Given the description of an element on the screen output the (x, y) to click on. 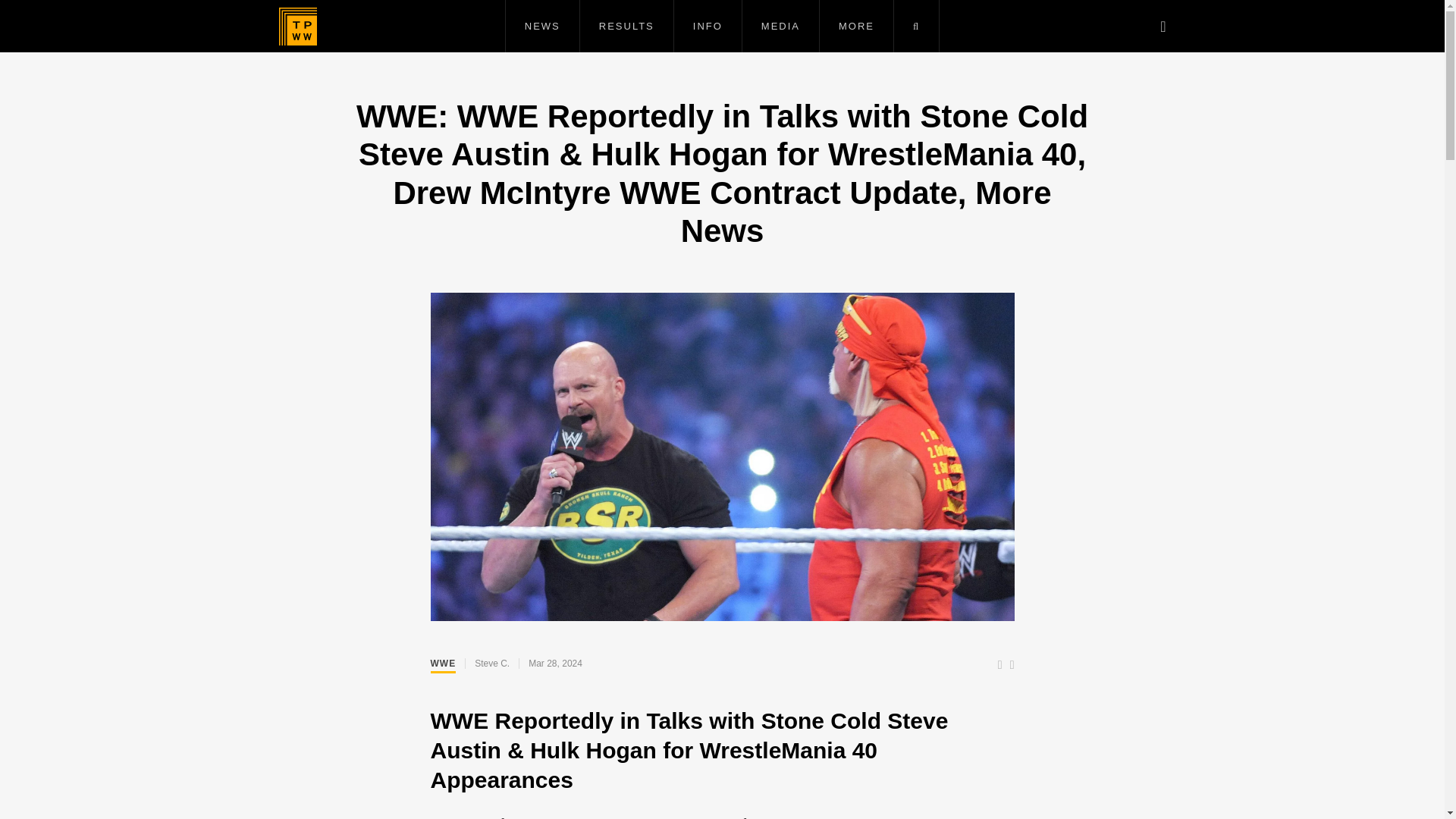
Steve C. (491, 663)
Posts by Steve C. (491, 663)
RESULTS (625, 26)
MORE (855, 26)
NEWS (542, 26)
MEDIA (779, 26)
The People's Wrestling Website (298, 26)
WWE (443, 665)
INFO (706, 26)
